Given the description of an element on the screen output the (x, y) to click on. 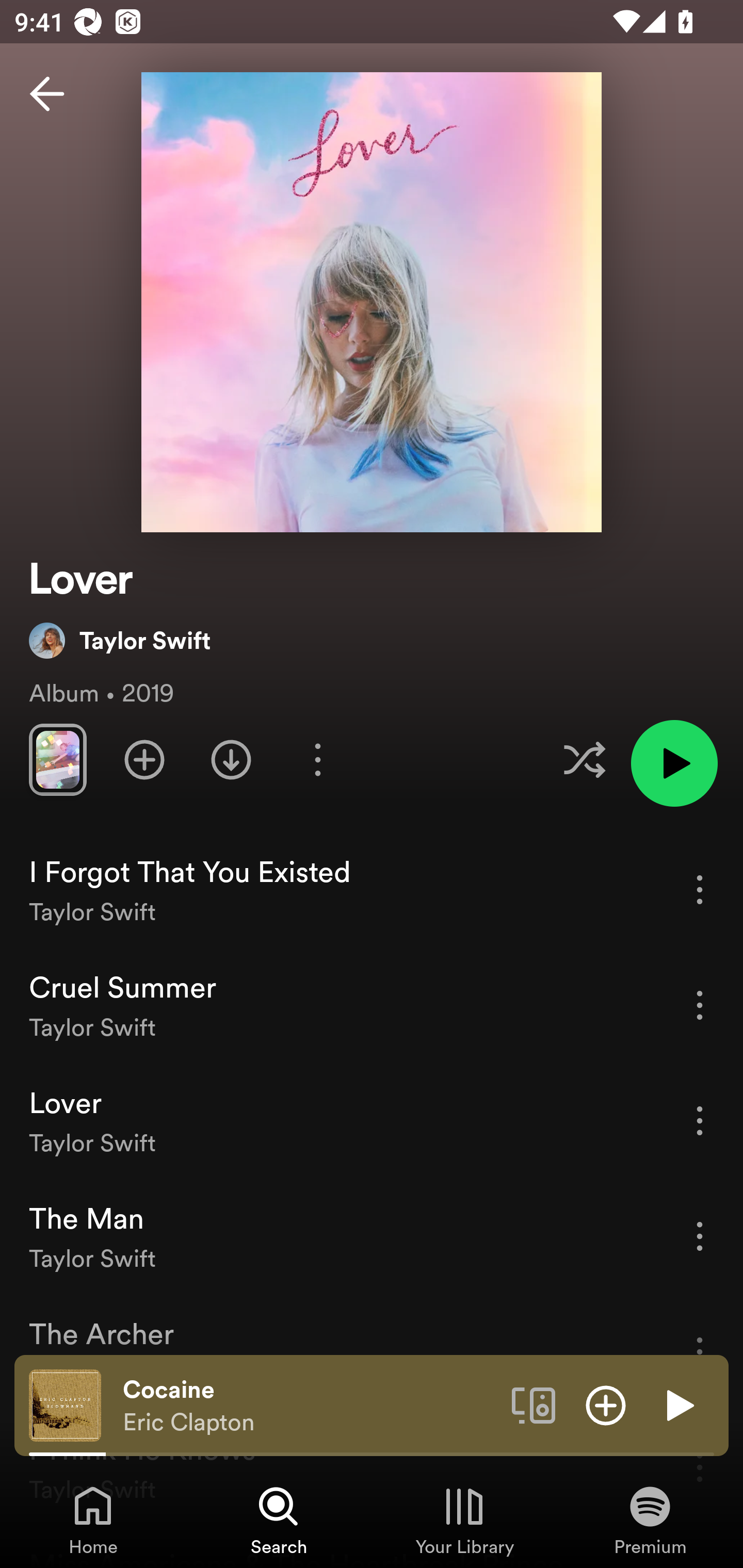
Back (46, 93)
Taylor Swift (119, 640)
Swipe through previews of tracks from this album. (57, 759)
Add playlist to Your Library (144, 759)
Download (230, 759)
More options for playlist Lover (317, 759)
Enable shuffle for this playlist (583, 759)
Play playlist (674, 763)
More options for song I Forgot That You Existed (699, 889)
More options for song Cruel Summer (699, 1004)
Lover Taylor Swift More options for song Lover (371, 1121)
More options for song Lover (699, 1120)
The Man Taylor Swift More options for song The Man (371, 1236)
More options for song The Man (699, 1236)
Cocaine Eric Clapton (309, 1405)
The cover art of the currently playing track (64, 1404)
Connect to a device. Opens the devices menu (533, 1404)
Add item (605, 1404)
Play (677, 1404)
Home, Tab 1 of 4 Home Home (92, 1519)
Search, Tab 2 of 4 Search Search (278, 1519)
Your Library, Tab 3 of 4 Your Library Your Library (464, 1519)
Premium, Tab 4 of 4 Premium Premium (650, 1519)
